Given the description of an element on the screen output the (x, y) to click on. 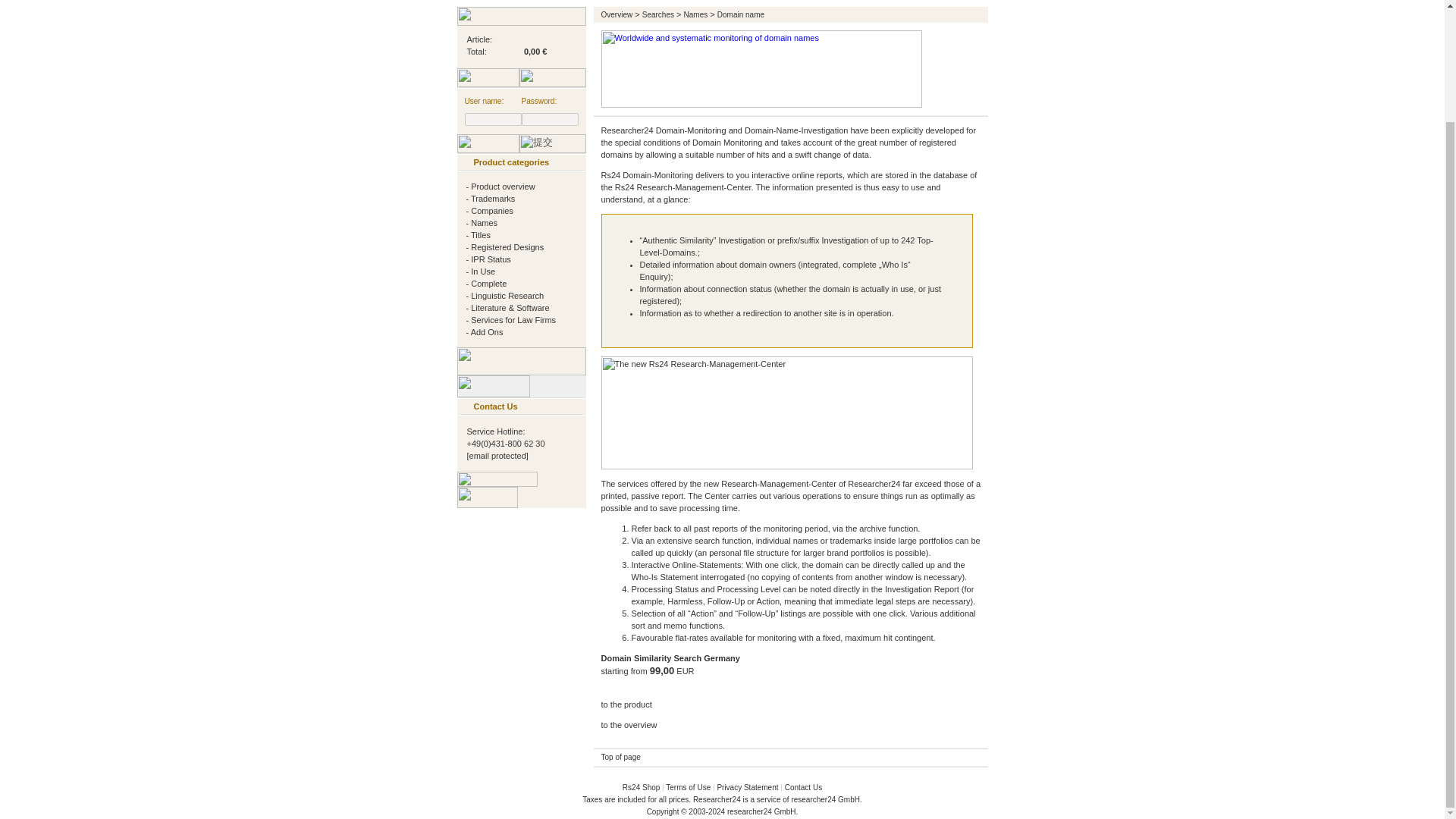
Companies (491, 210)
Titles (480, 234)
Names (695, 13)
Services for Law Firms (513, 319)
Add Ons (486, 331)
Searches (658, 13)
Linguistic Research (506, 295)
Complete (488, 283)
Domain name (740, 13)
Overview (615, 13)
IPR Status (490, 258)
Product overview (502, 185)
Trademarks (492, 198)
In Use (482, 271)
Registered Designs (506, 246)
